Given the description of an element on the screen output the (x, y) to click on. 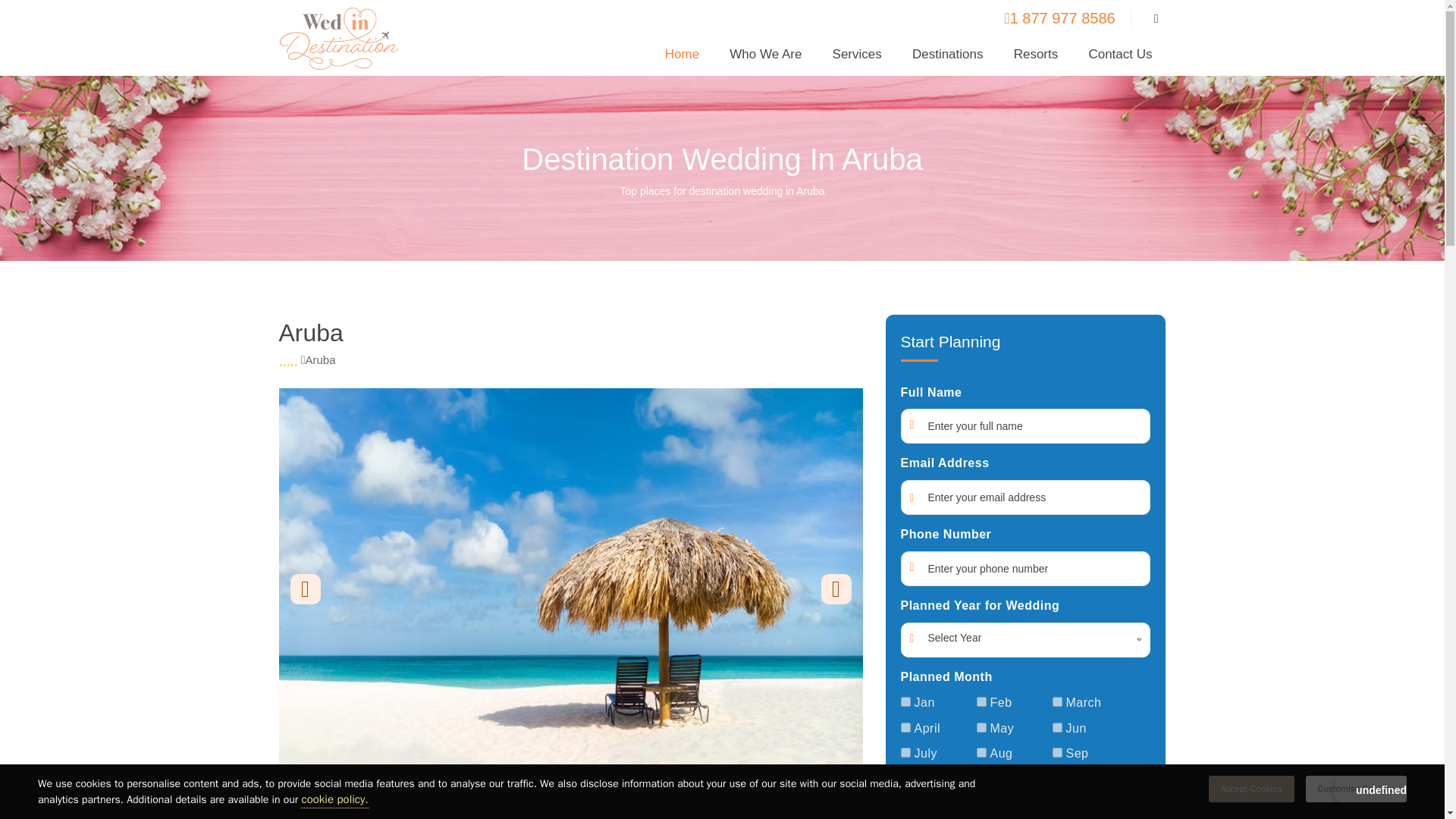
 July  (906, 752)
 May  (981, 727)
Home (681, 58)
 Nov  (981, 777)
 Jan  (906, 701)
 Dec  (1057, 777)
1 877 977 8586 (1059, 17)
Top places for destination wedding in Aruba (722, 191)
Contact Us (1120, 58)
Who We Are (765, 58)
 Jun  (1057, 727)
 Oct  (906, 777)
Destinations (947, 58)
Previous (304, 589)
 Sep  (1057, 752)
